Given the description of an element on the screen output the (x, y) to click on. 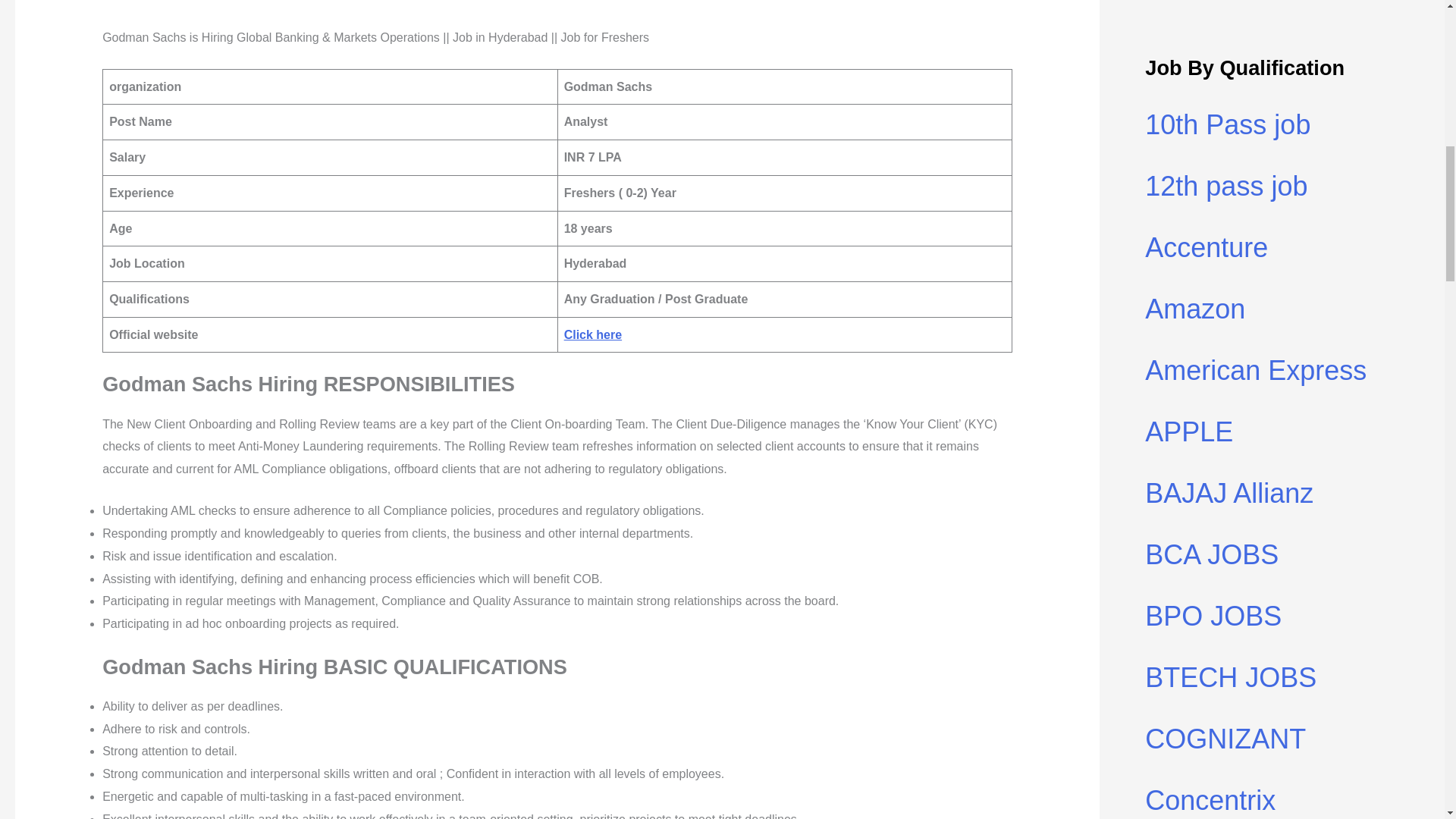
Click here (592, 334)
